Given the description of an element on the screen output the (x, y) to click on. 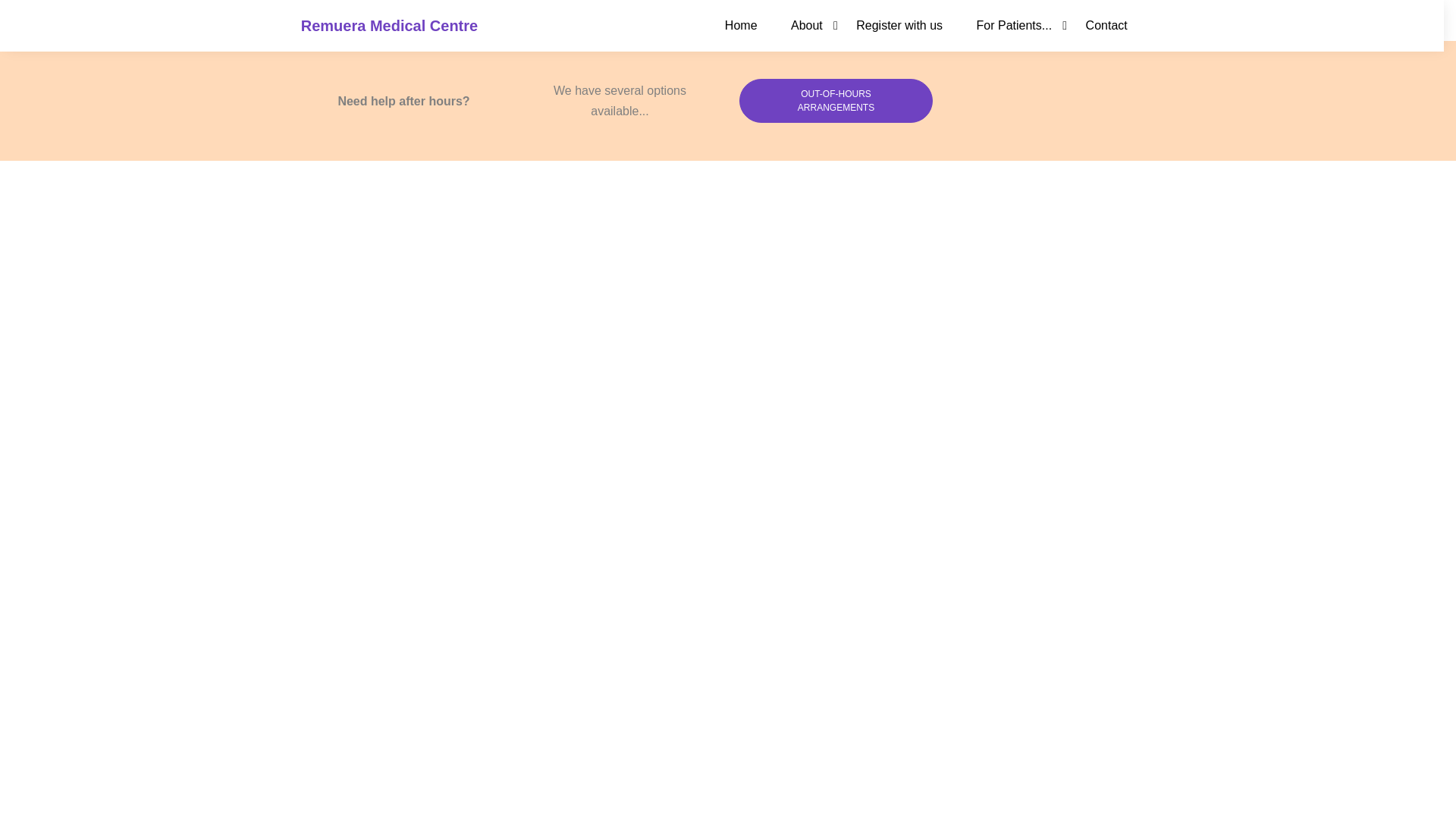
For Patients... (1013, 25)
Register with us (899, 25)
Home (741, 25)
Contact (1106, 25)
Remuera Medical Centre (389, 25)
OUT-OF-HOURS ARRANGEMENTS (836, 100)
About (807, 25)
